Given the description of an element on the screen output the (x, y) to click on. 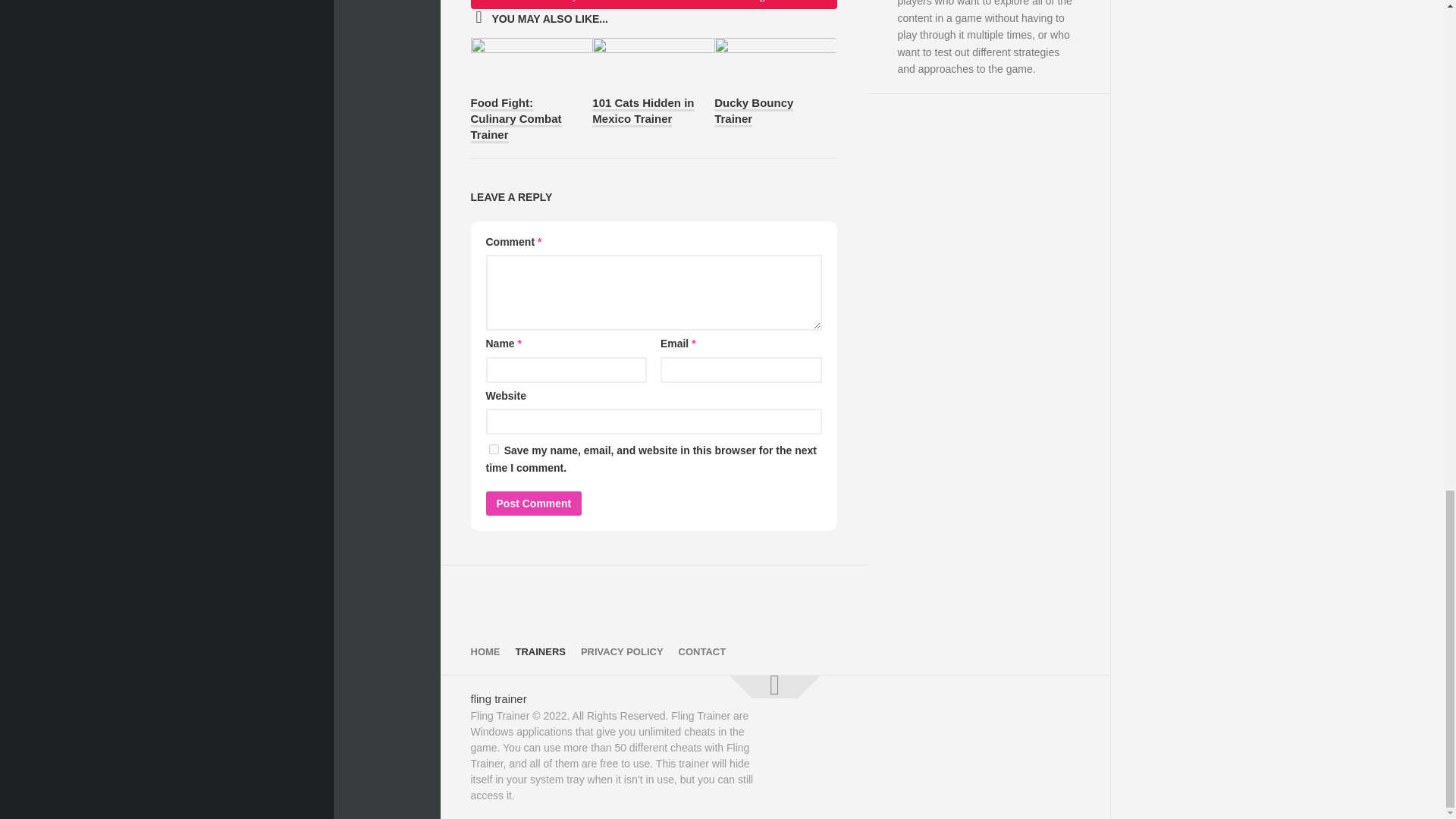
yes (492, 449)
Post Comment (532, 503)
101 Cats Hidden in Mexico Trainer (643, 111)
fling trainer (497, 698)
Food Fight: Culinary Combat Trainer (515, 119)
Post Comment (532, 503)
Ducky Bouncy Trainer (753, 111)
